Given the description of an element on the screen output the (x, y) to click on. 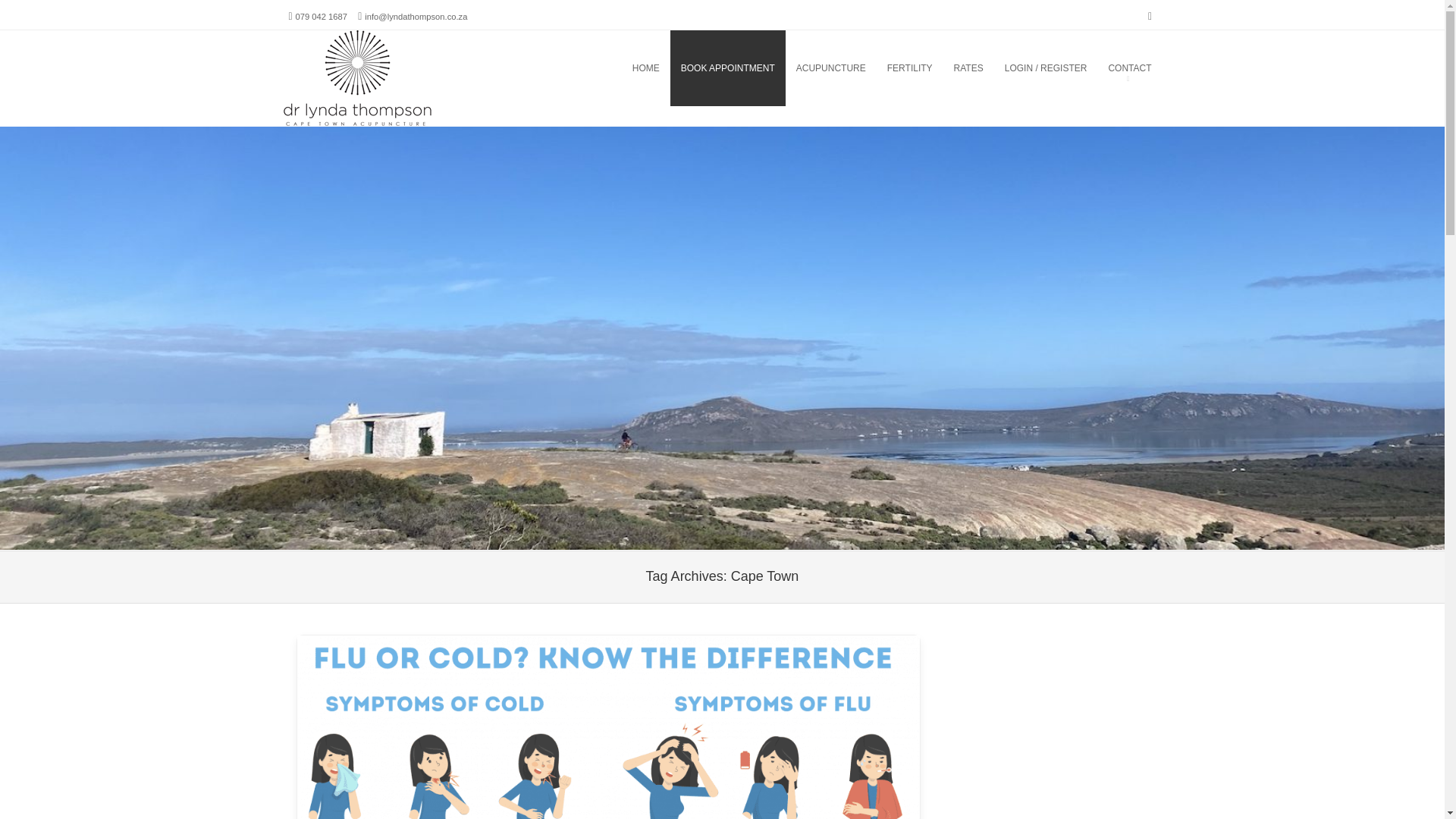
Skip to content (553, 68)
SKIP TO CONTENT (553, 68)
ACUPUNCTURE (831, 68)
BOOK APPOINTMENT (727, 68)
